Given the description of an element on the screen output the (x, y) to click on. 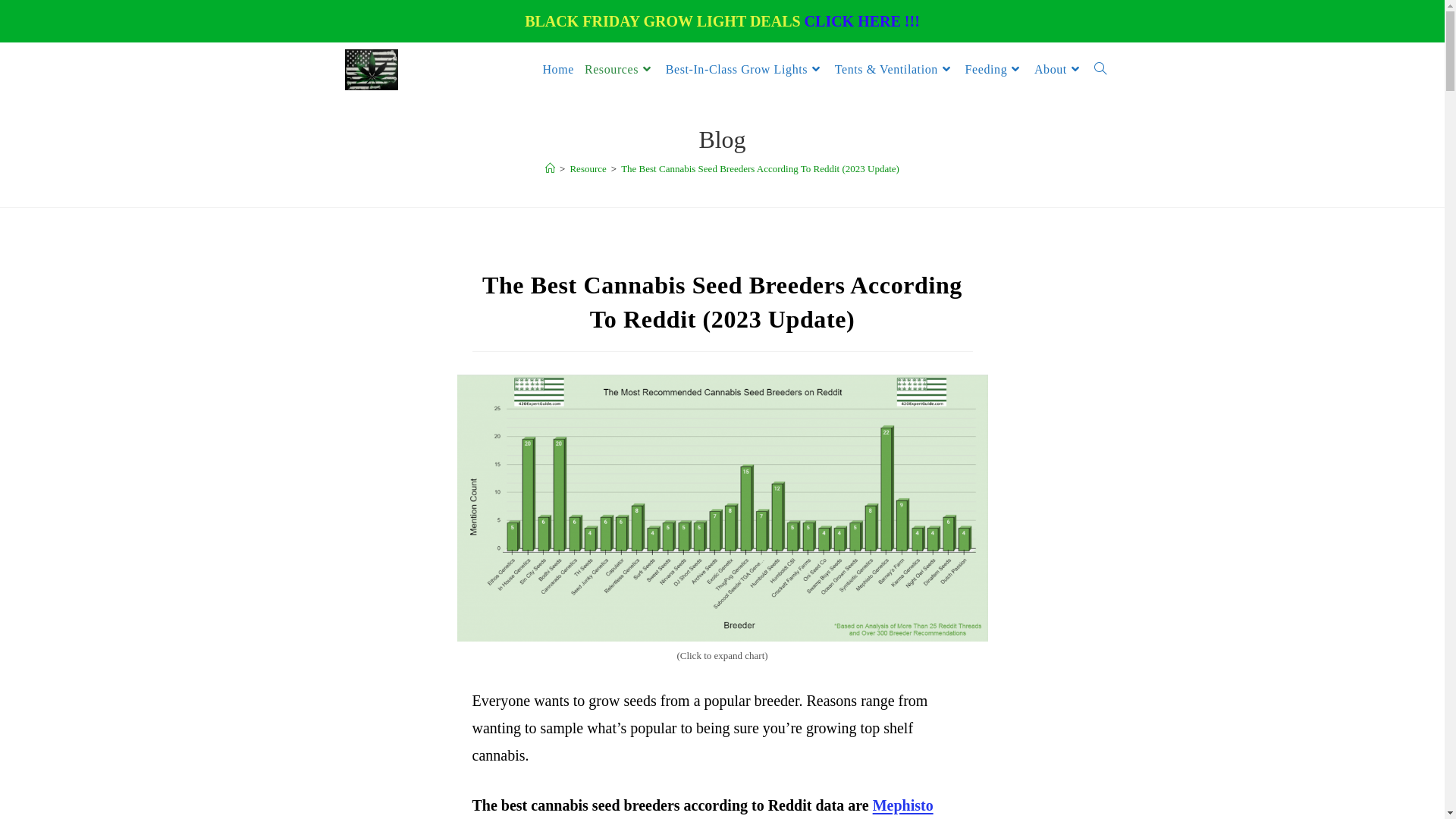
CLICK HERE !!! Element type: text (861, 20)
Resources Element type: text (619, 69)
Feeding Element type: text (994, 69)
Tents & Ventilation Element type: text (894, 69)
About Element type: text (1058, 69)
Home Element type: text (557, 69)
Resource Element type: text (587, 168)
Toggle website search Element type: text (1099, 69)
Best-In-Class Grow Lights Element type: text (744, 69)
